Given the description of an element on the screen output the (x, y) to click on. 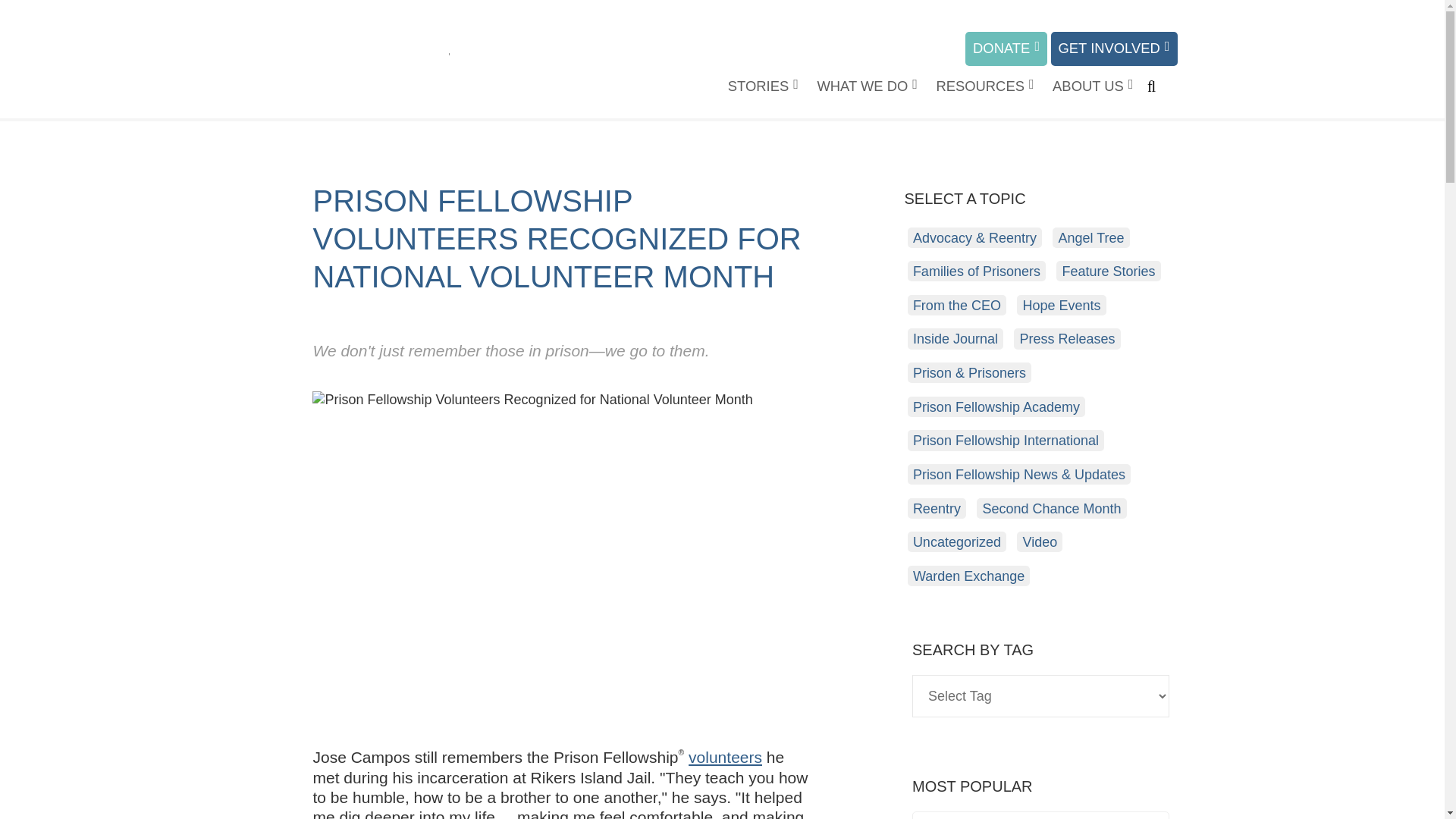
DONATE (1005, 48)
GET INVOLVED (1114, 48)
WHAT WE DO (866, 86)
Prison Fellowship (357, 62)
Story Parent (763, 86)
STORIES (763, 86)
